Given the description of an element on the screen output the (x, y) to click on. 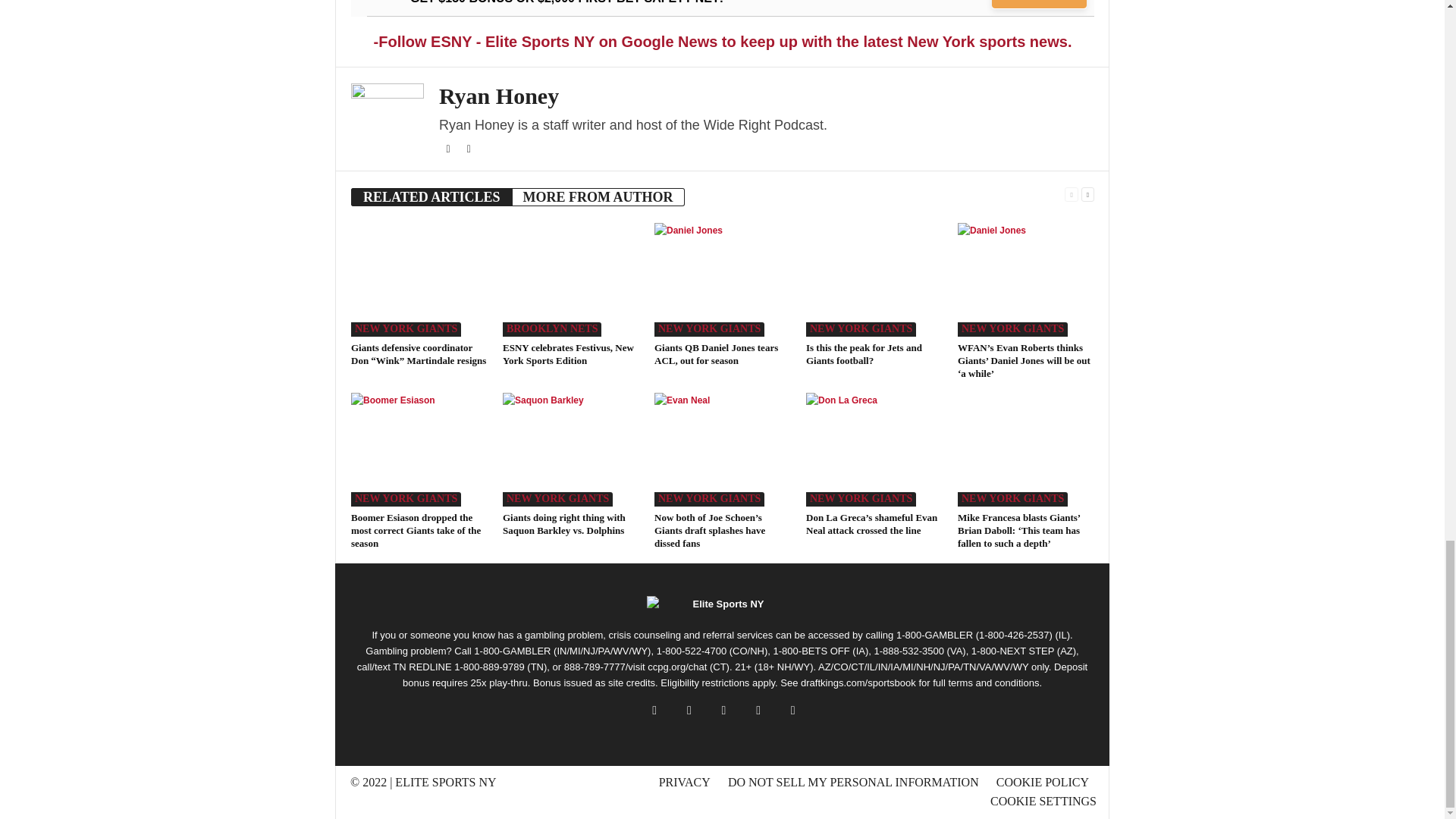
Linkedin (468, 149)
Twitter (449, 149)
ESNY celebrates Festivus, New York Sports Edition (570, 279)
